Given the description of an element on the screen output the (x, y) to click on. 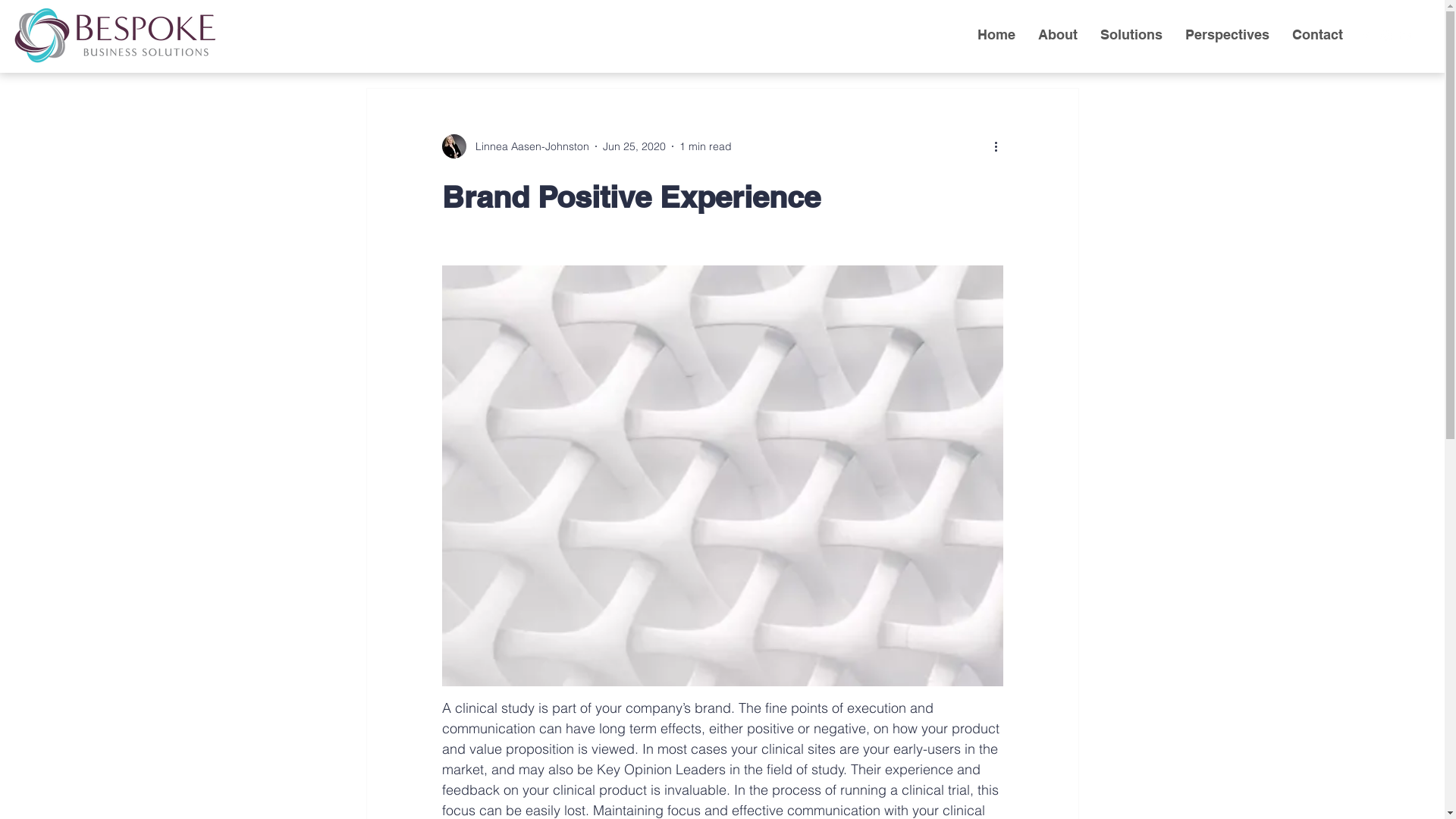
Contact Element type: text (1317, 34)
Home Element type: text (996, 34)
Solutions Element type: text (1130, 34)
Perspectives Element type: text (1226, 34)
About Element type: text (1057, 34)
